Given the description of an element on the screen output the (x, y) to click on. 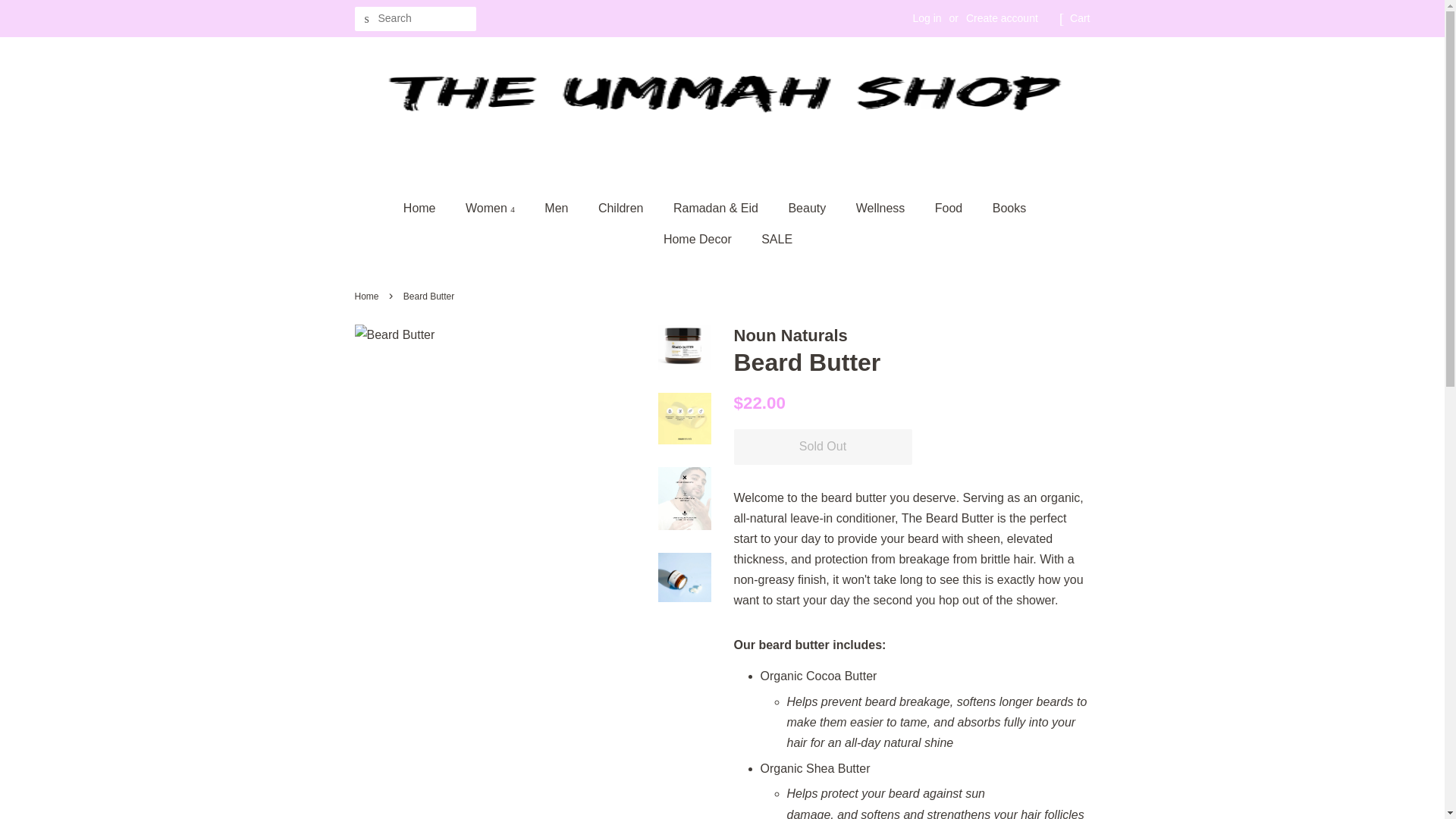
Cart (1079, 18)
Food (949, 207)
Beauty (808, 207)
Wellness (882, 207)
Search (366, 18)
Back to the frontpage (368, 296)
Create account (1002, 18)
Log in (927, 18)
Home Decor (699, 238)
Children (622, 207)
